Given the description of an element on the screen output the (x, y) to click on. 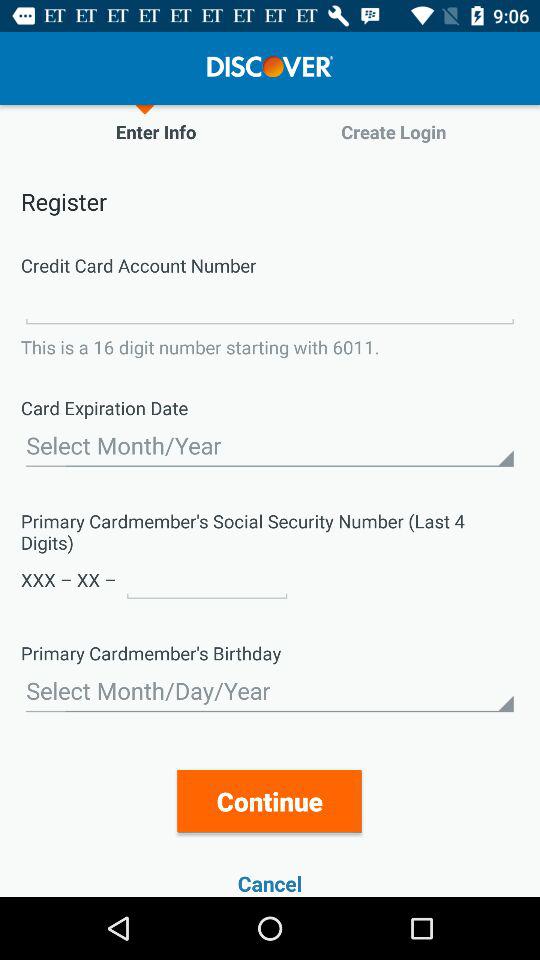
press the cancel item (269, 884)
